Given the description of an element on the screen output the (x, y) to click on. 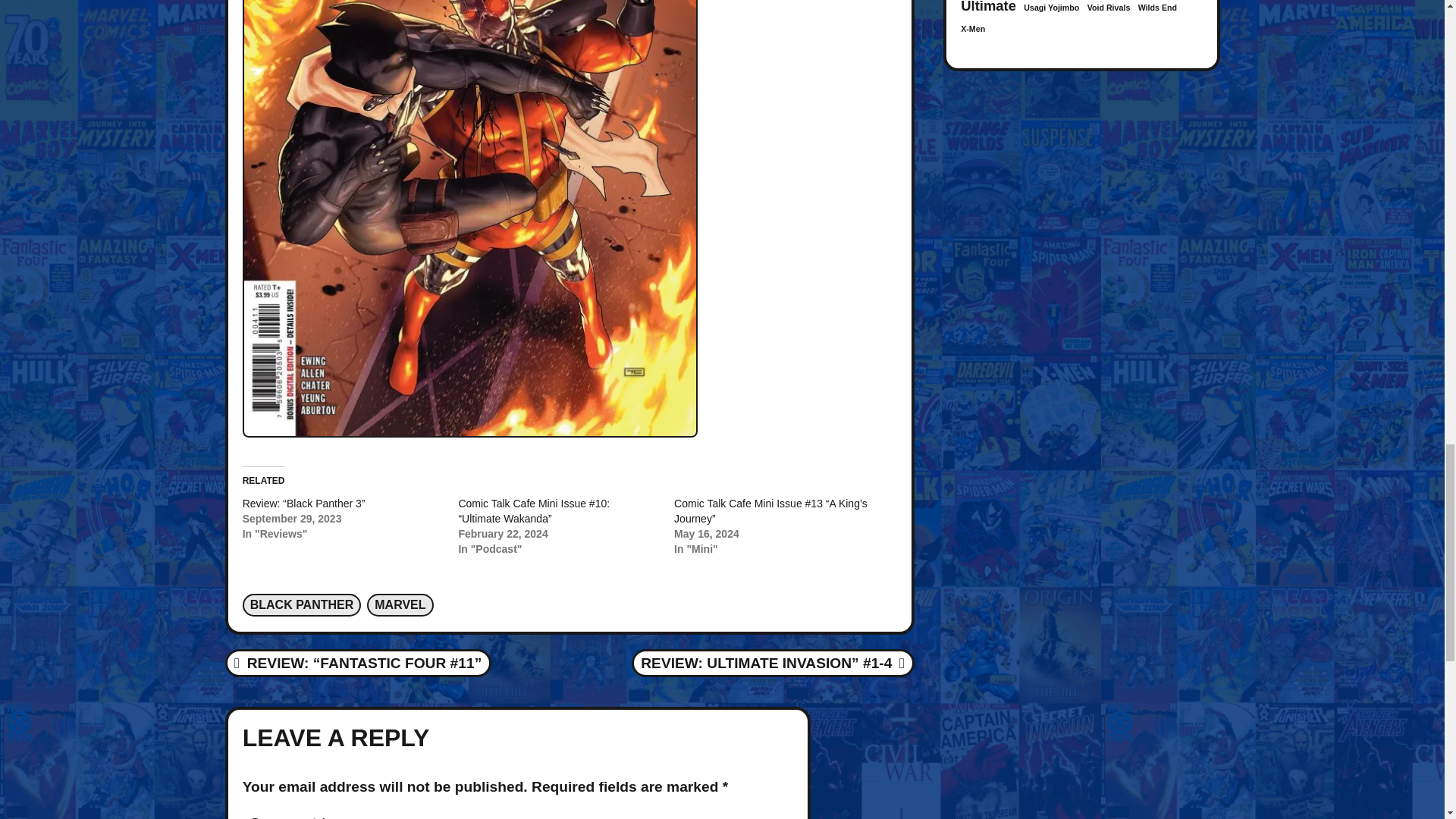
BLACK PANTHER (302, 604)
MARVEL (399, 604)
